Given the description of an element on the screen output the (x, y) to click on. 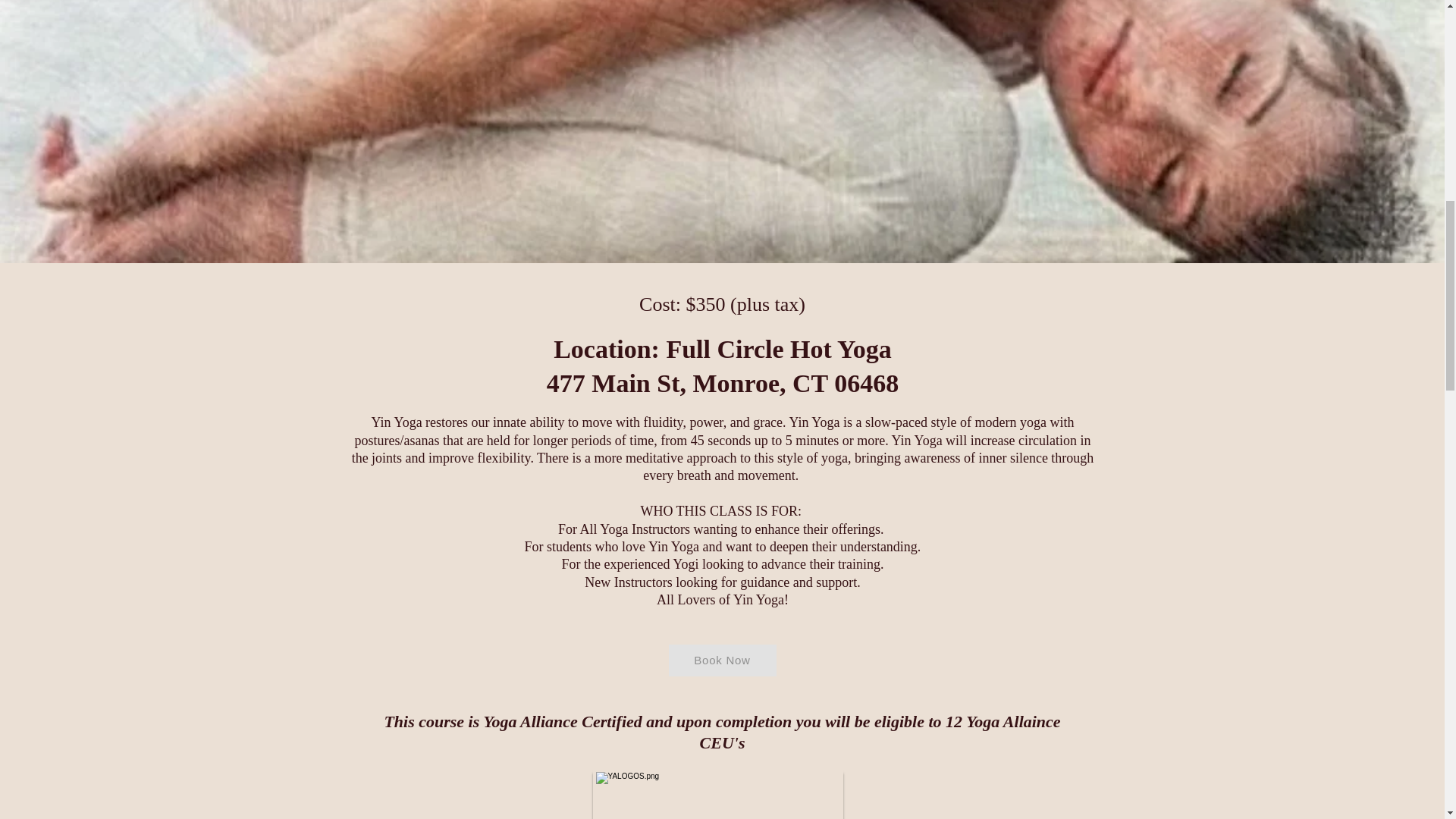
Book Now (722, 660)
